Given the description of an element on the screen output the (x, y) to click on. 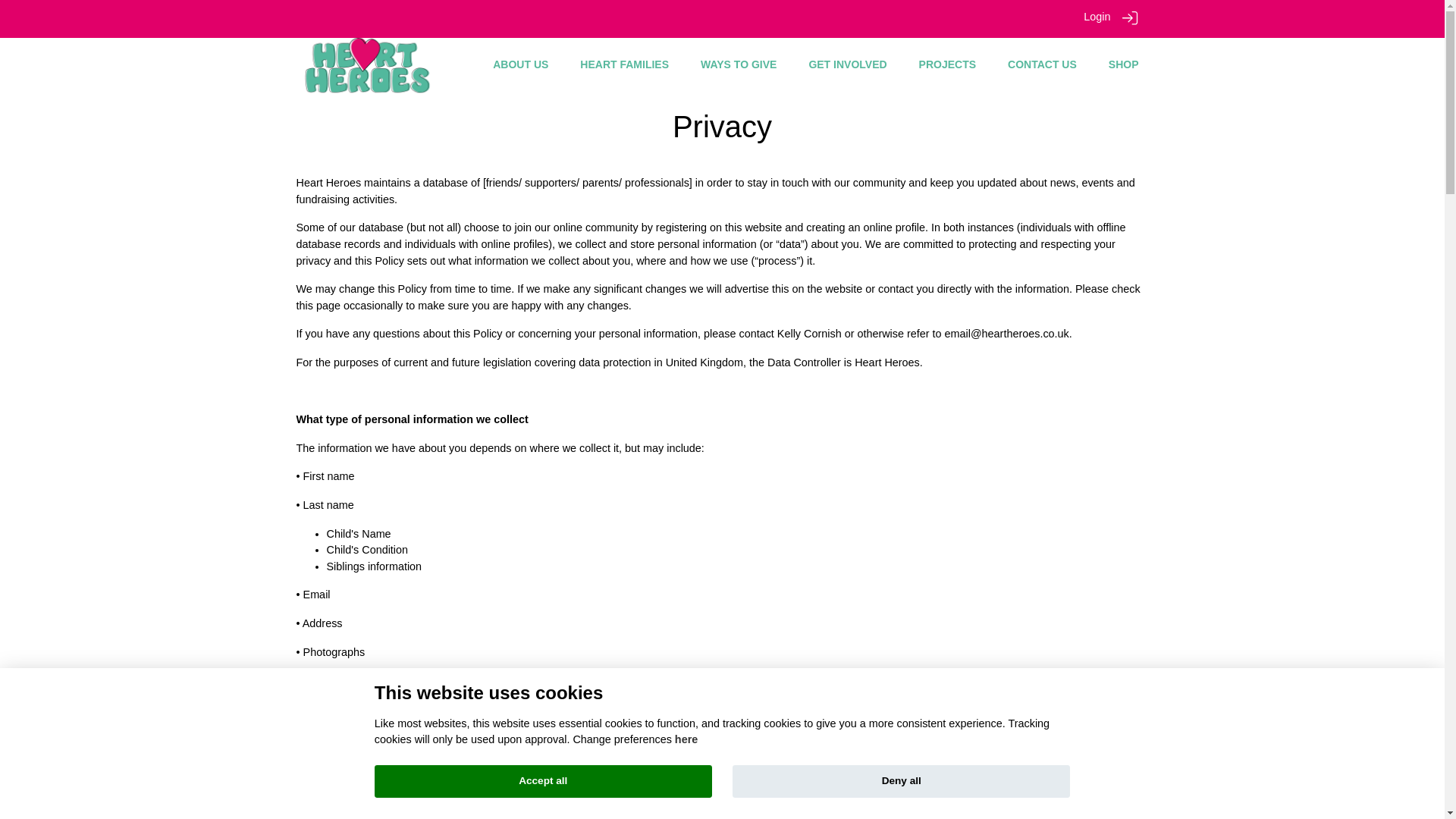
Login (1096, 16)
PROJECTS (946, 64)
HEART FAMILIES (623, 64)
ABOUT US (520, 64)
SHOP (1123, 64)
CONTACT US (1042, 64)
WAYS TO GIVE (738, 64)
GET INVOLVED (847, 64)
